Given the description of an element on the screen output the (x, y) to click on. 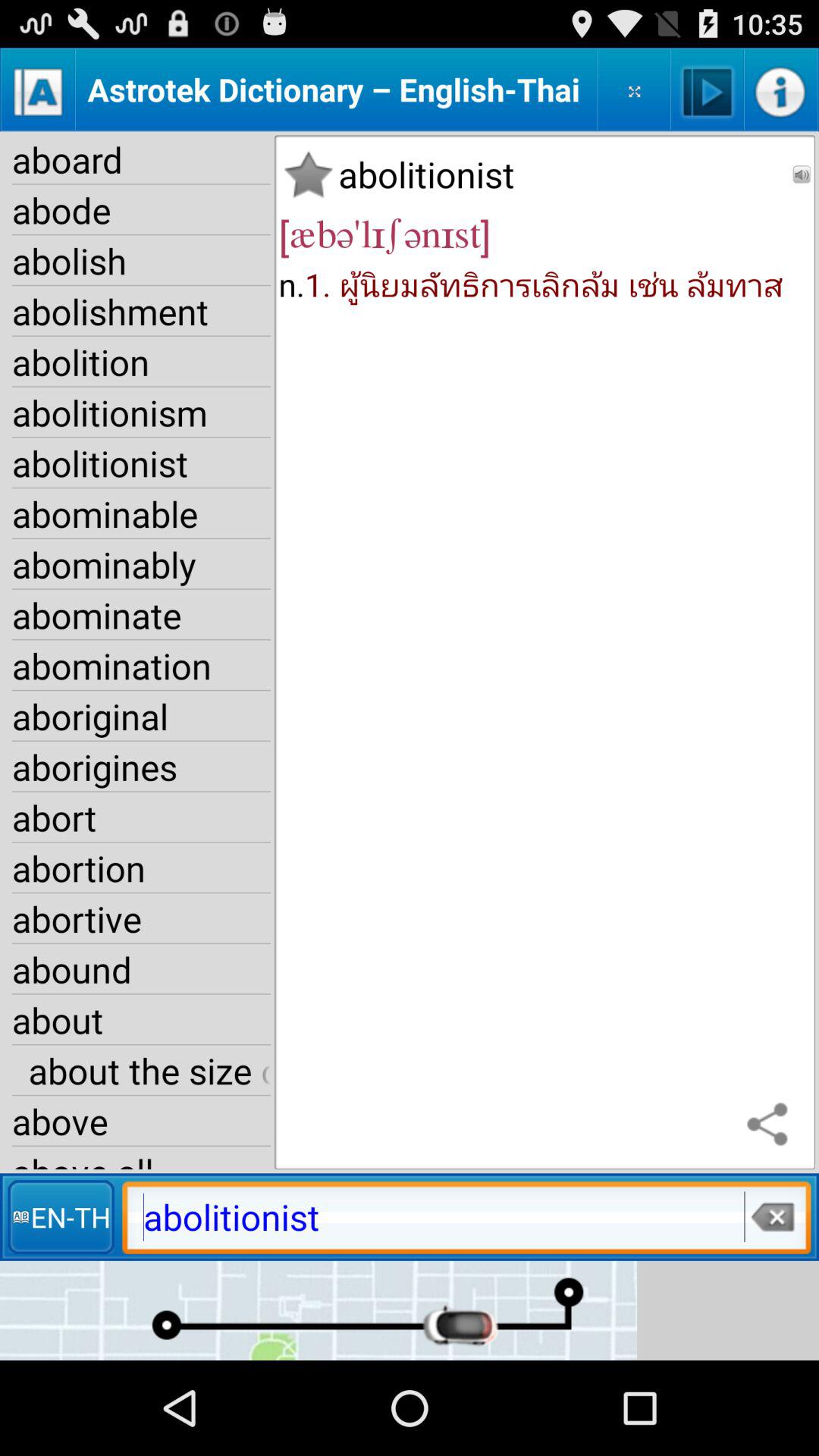
delete text (771, 1216)
